Given the description of an element on the screen output the (x, y) to click on. 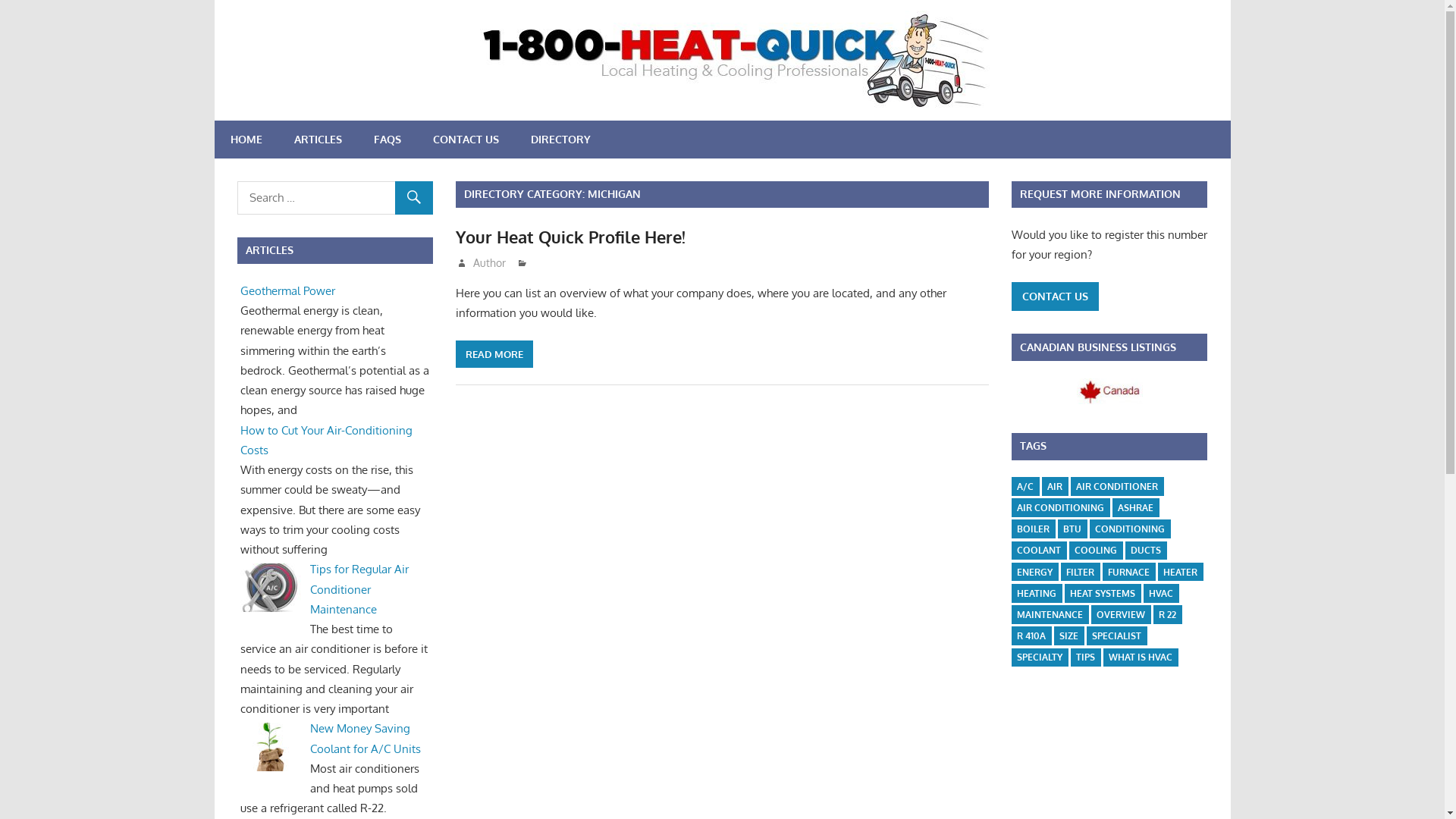
READ MORE Element type: text (494, 353)
New Money Saving Coolant for A/C Units Element type: text (365, 738)
COOLANT Element type: text (1038, 550)
December 1, 2016 Element type: text (511, 262)
A/C Element type: text (1024, 485)
R 410A Element type: text (1031, 635)
FURNACE Element type: text (1128, 571)
TIPS Element type: text (1085, 656)
SPECIALIST Element type: text (1116, 635)
Search for: Element type: hover (334, 197)
CONDITIONING Element type: text (1129, 528)
ARTICLES Element type: text (317, 139)
HEATING Element type: text (1036, 592)
DUCTS Element type: text (1145, 550)
CONTACT US Element type: text (465, 139)
Tips for Regular Air Conditioner Maintenance Element type: text (359, 588)
CONTACT US Element type: text (1054, 295)
HVAC Element type: text (1160, 592)
BTU Element type: text (1071, 528)
DIRECTORY Element type: text (559, 139)
AIR Element type: text (1054, 485)
FILTER Element type: text (1079, 571)
HEAT SYSTEMS Element type: text (1102, 592)
AIR CONDITIONER Element type: text (1116, 485)
HOME Element type: text (245, 139)
ASHRAE Element type: text (1135, 507)
ENERGY Element type: text (1034, 571)
How to Cut Your Air-Conditioning Costs Element type: text (326, 440)
OVERVIEW Element type: text (1120, 614)
SPECIALTY Element type: text (1039, 656)
FAQS Element type: text (387, 139)
Your Heat Quick Profile Here! Element type: text (570, 236)
BOILER Element type: text (1032, 528)
Author Element type: text (489, 262)
MAINTENANCE Element type: text (1049, 614)
AIR CONDITIONING Element type: text (1060, 507)
HEATER Element type: text (1179, 571)
WHAT IS HVAC Element type: text (1140, 656)
Geothermal Power Element type: text (287, 290)
CONTACT US Element type: text (1054, 296)
SIZE Element type: text (1068, 635)
R 22 Element type: text (1167, 614)
COOLING Element type: text (1095, 550)
